Given the description of an element on the screen output the (x, y) to click on. 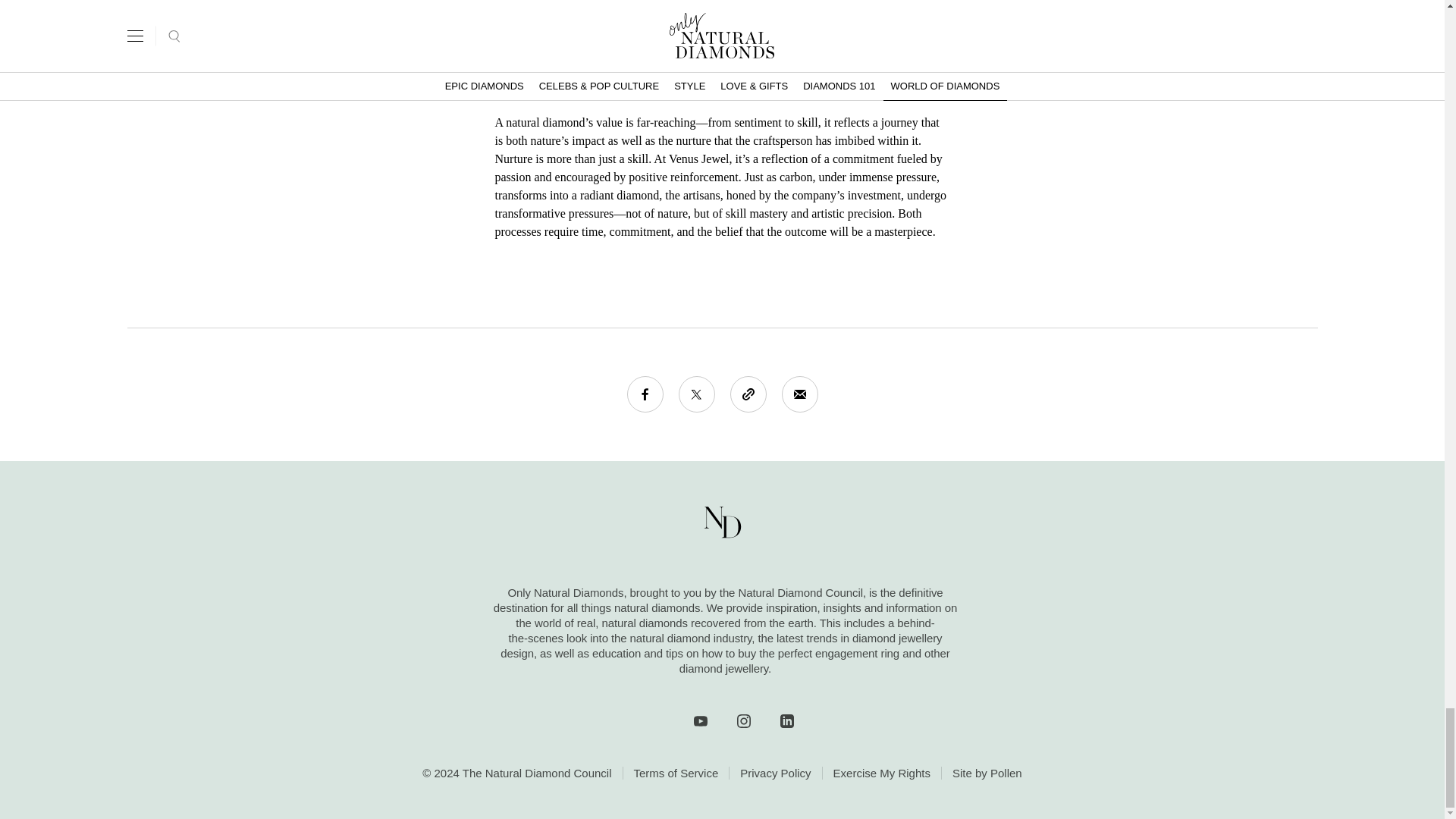
Tweet This (696, 393)
Email this page (798, 393)
Clipboard (747, 393)
Share on Facebook (644, 393)
